Given the description of an element on the screen output the (x, y) to click on. 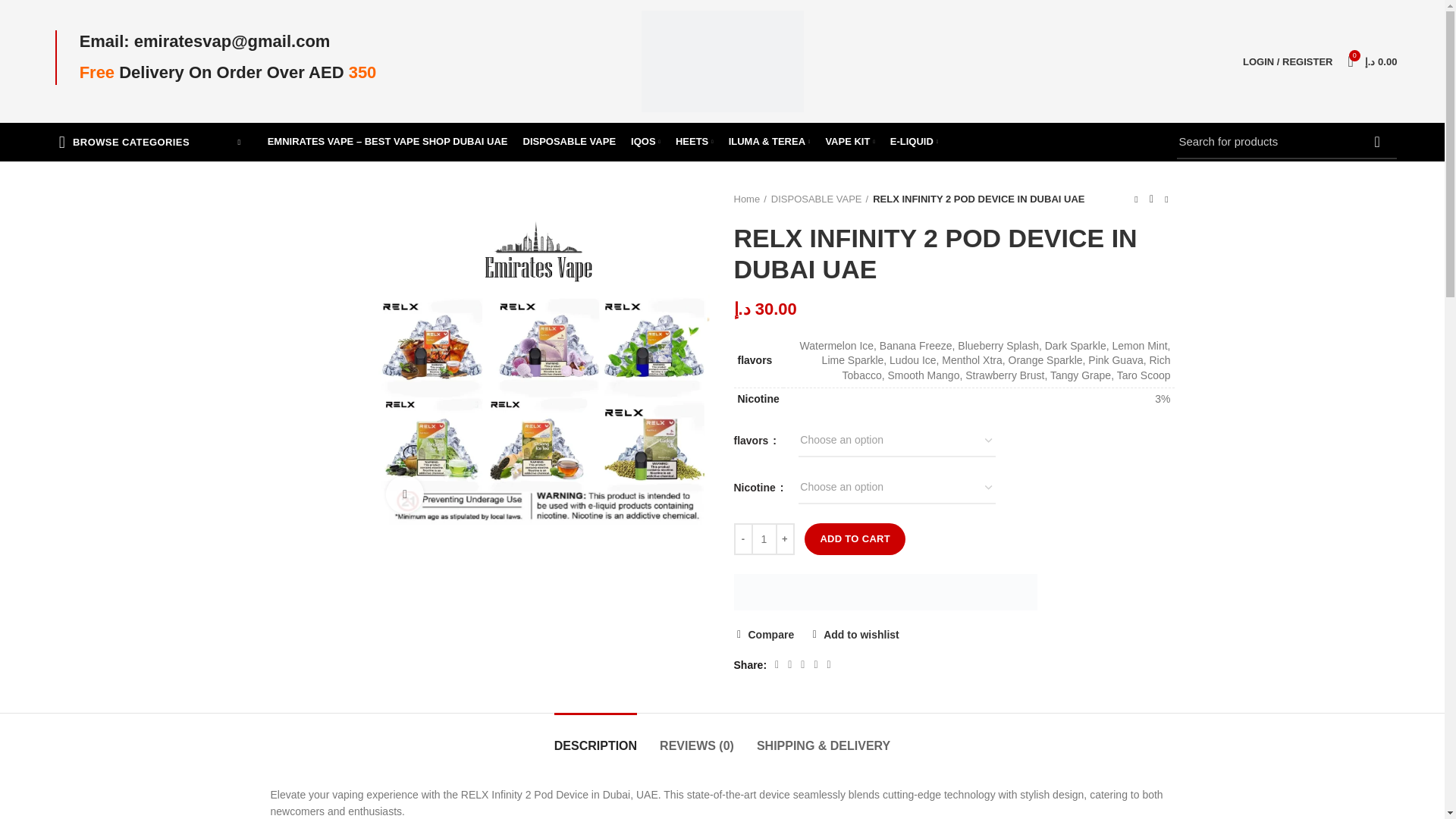
HEETS (694, 141)
Search for products (1286, 141)
My account (1286, 60)
Shopping cart (1372, 60)
DISPOSABLE VAPE (569, 141)
RELX-INFINITY-2-PODS-DEVICE-1 (542, 357)
IQOS (645, 141)
